Given the description of an element on the screen output the (x, y) to click on. 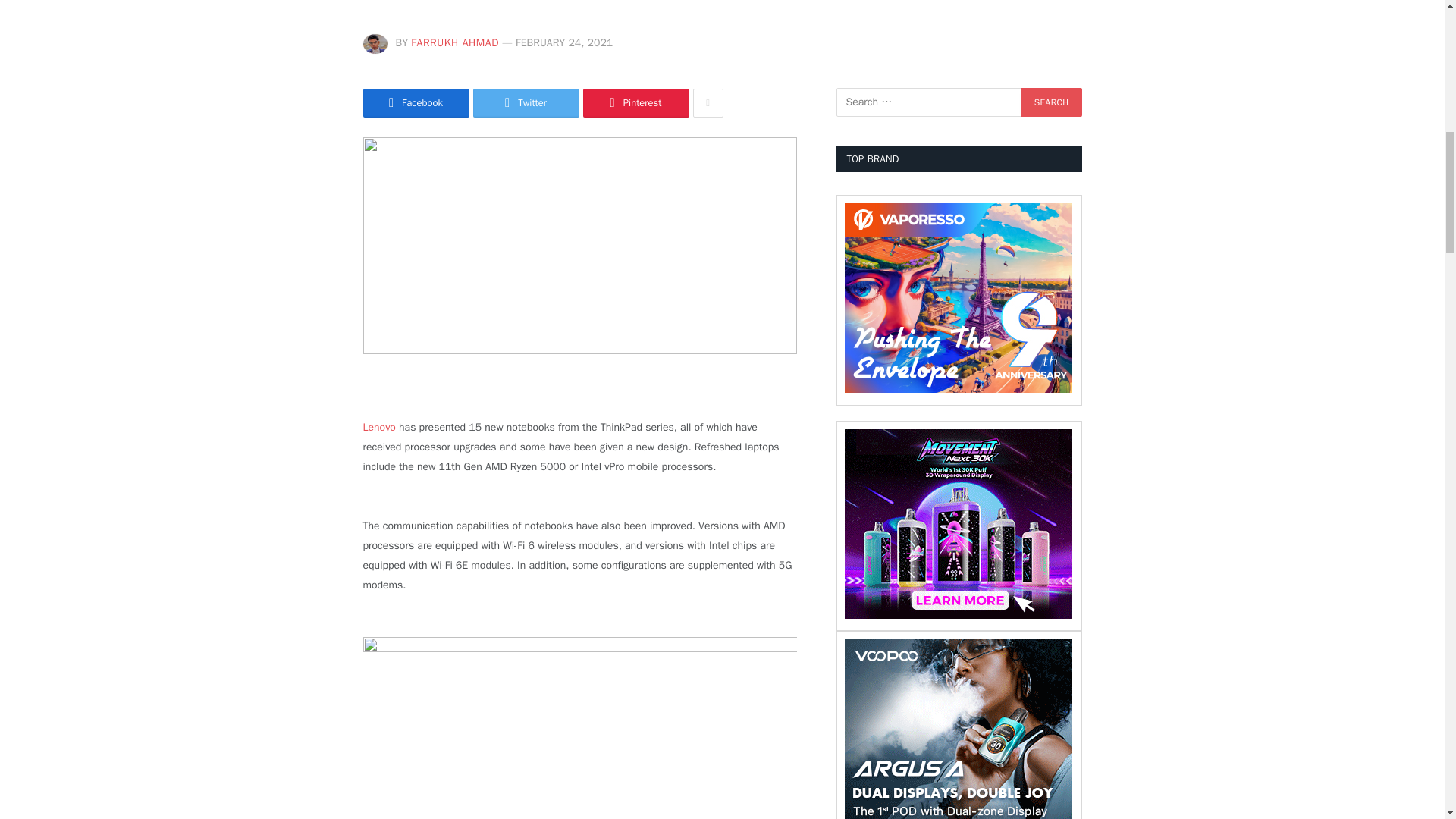
Show More Social Sharing (708, 102)
Share on Facebook (415, 102)
Search (1051, 102)
Share on Pinterest (635, 102)
Share on Twitter (526, 102)
Search (1051, 102)
Lenovo Announces New ThinkPad Laptops With Faster Processors (579, 245)
Posts by Farrukh Ahmad (454, 42)
